Given the description of an element on the screen output the (x, y) to click on. 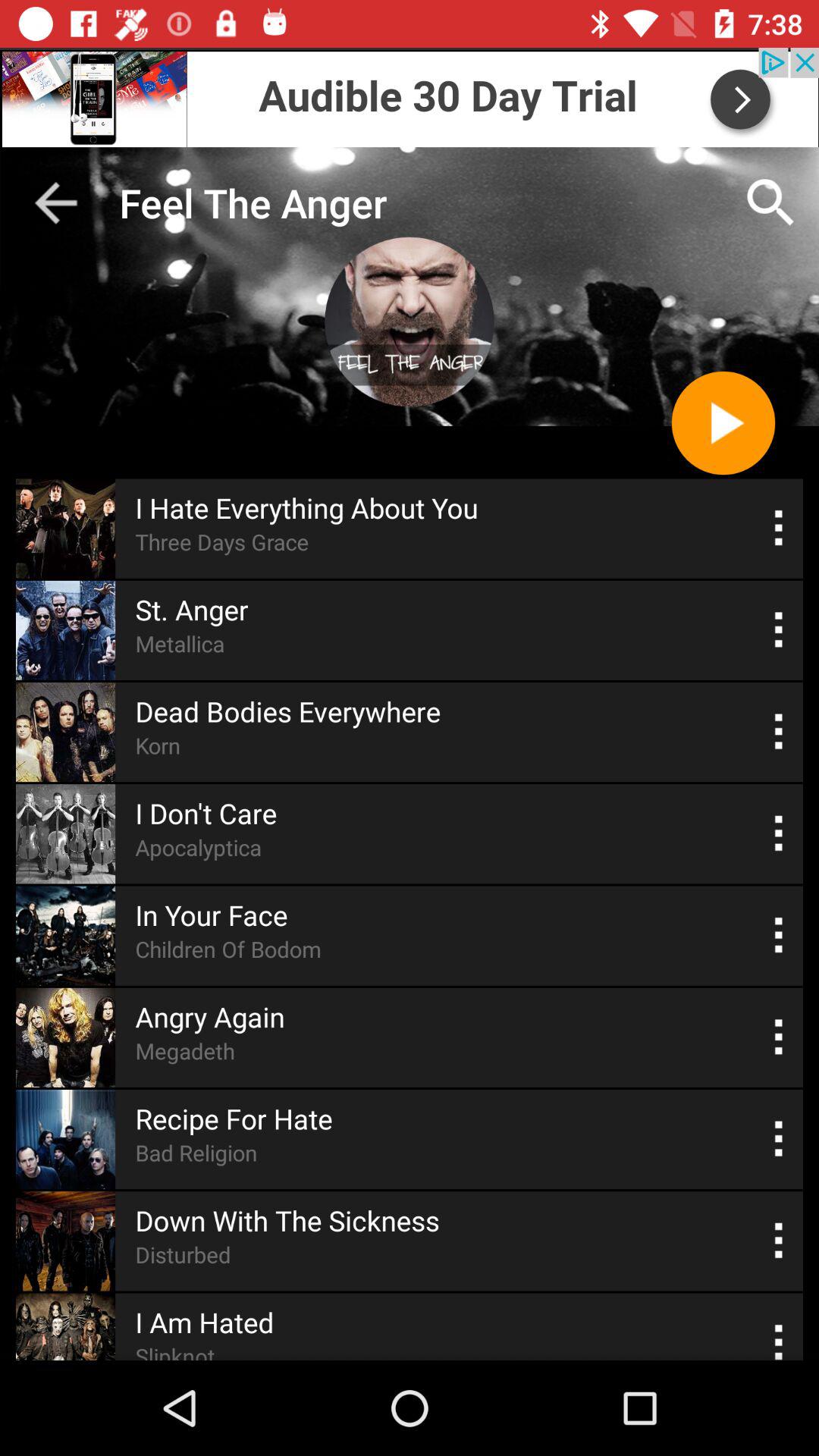
click on the last image (65, 1326)
select the three vertical dots icon which is to the right side of i hate everything about you option (779, 527)
select the option menu which is beside the st anger (779, 630)
